Given the description of an element on the screen output the (x, y) to click on. 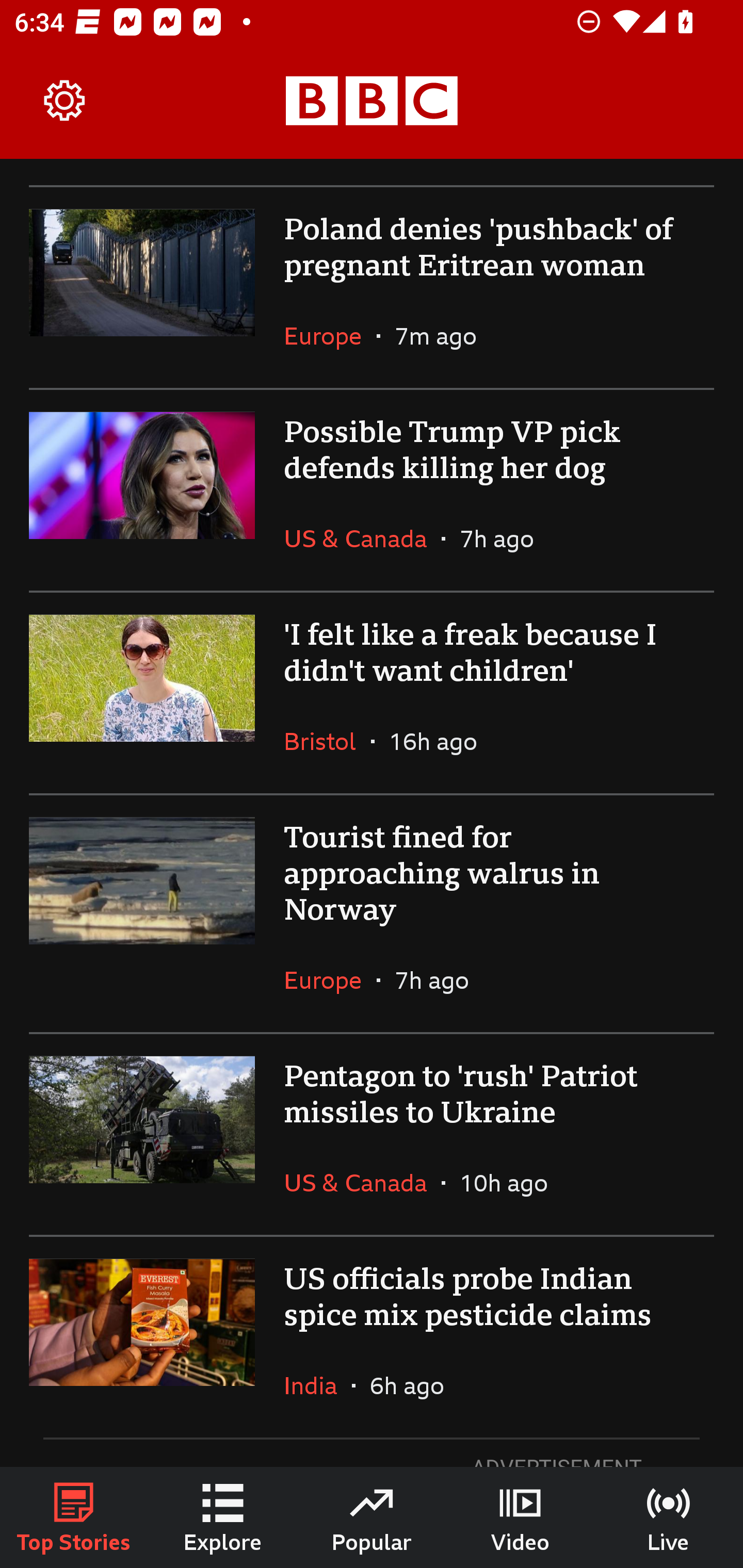
Settings (64, 100)
Europe In the section Europe (329, 335)
US & Canada In the section US & Canada (362, 538)
Bristol In the section Bristol (326, 740)
Europe In the section Europe (329, 979)
US & Canada In the section US & Canada (362, 1182)
India In the section India (317, 1384)
Explore (222, 1517)
Popular (371, 1517)
Video (519, 1517)
Live (668, 1517)
